Given the description of an element on the screen output the (x, y) to click on. 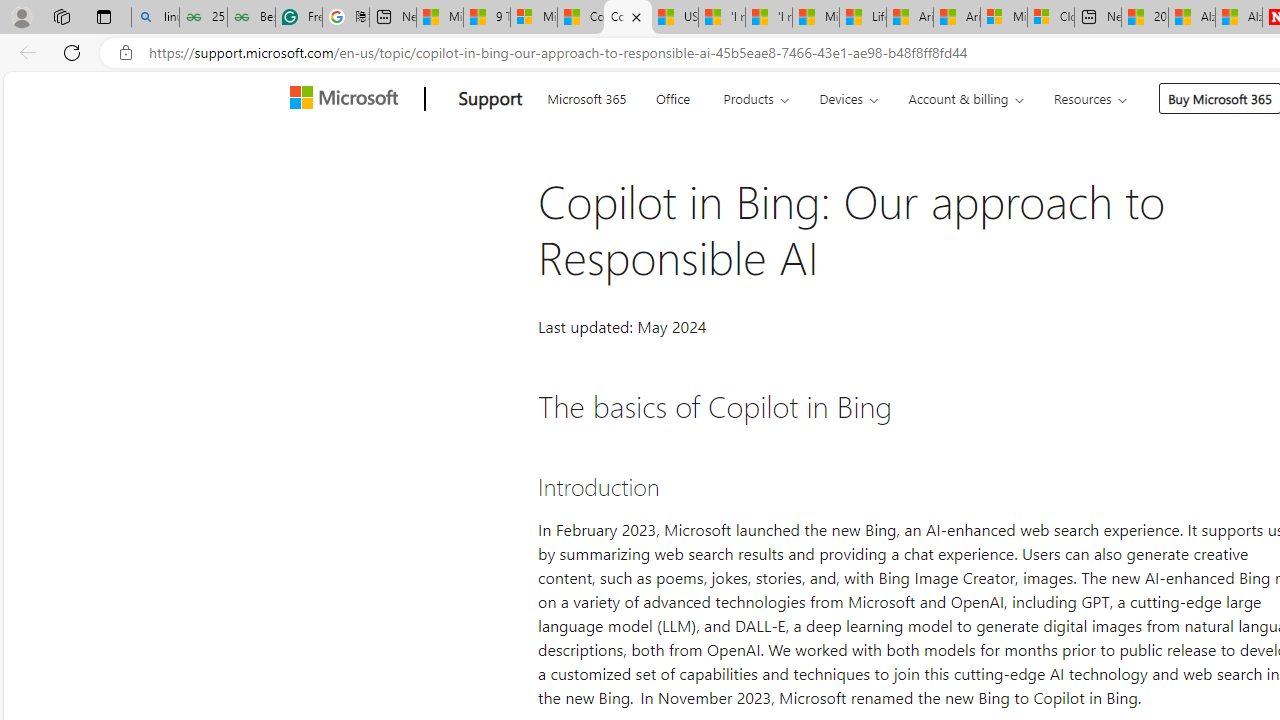
20 Ways to Boost Your Protein Intake at Every Meal (1145, 17)
linux basic - Search (155, 17)
25 Basic Linux Commands For Beginners - GeeksforGeeks (203, 17)
USA TODAY - MSN (674, 17)
